Given the description of an element on the screen output the (x, y) to click on. 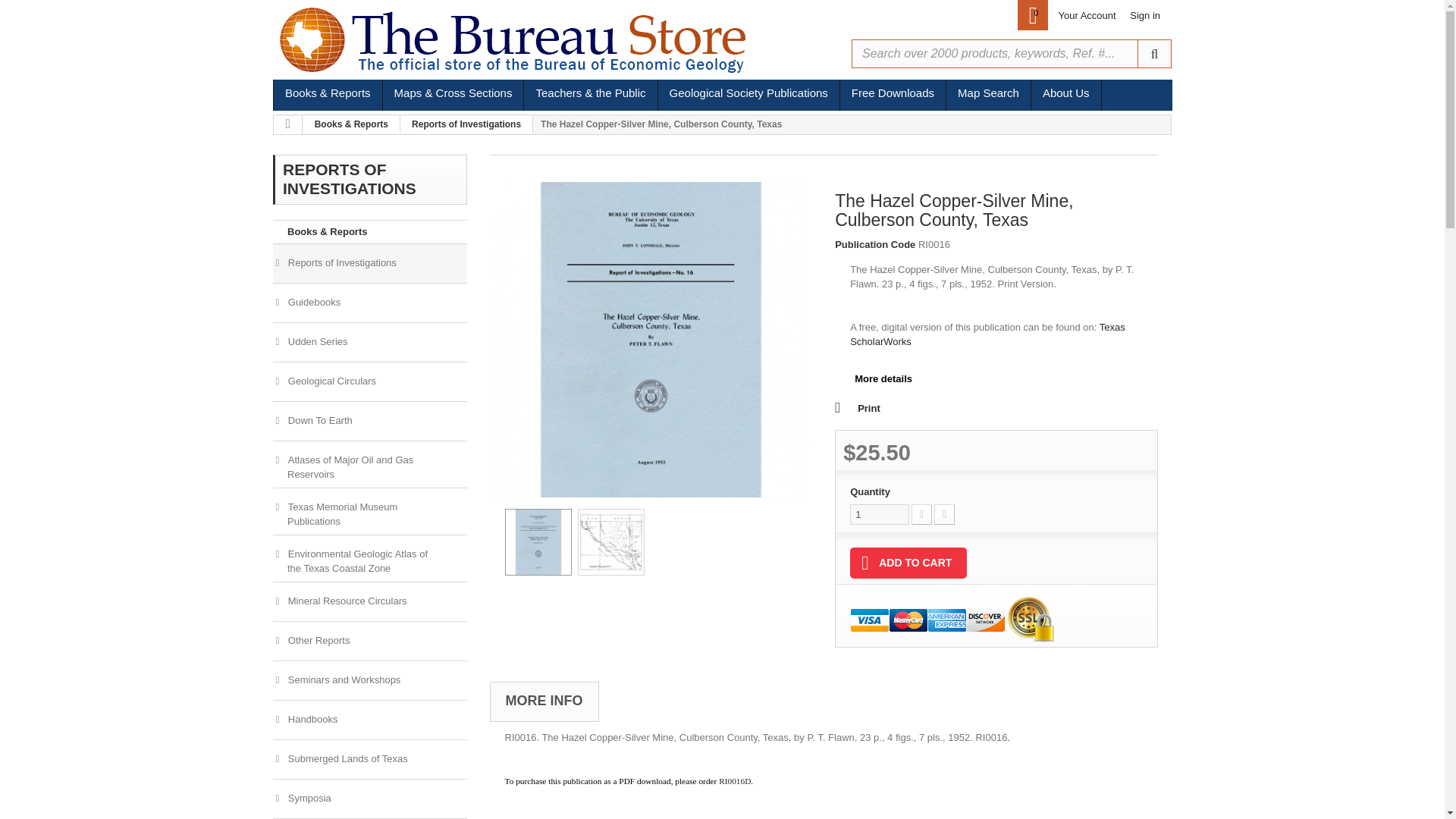
Sign in (1144, 15)
0 (1032, 15)
The Bureau Store (530, 39)
Your Account (1086, 15)
1 (879, 514)
View my shopping cart (1032, 15)
Login to your customer account (1144, 15)
View my customer account (1086, 15)
